Given the description of an element on the screen output the (x, y) to click on. 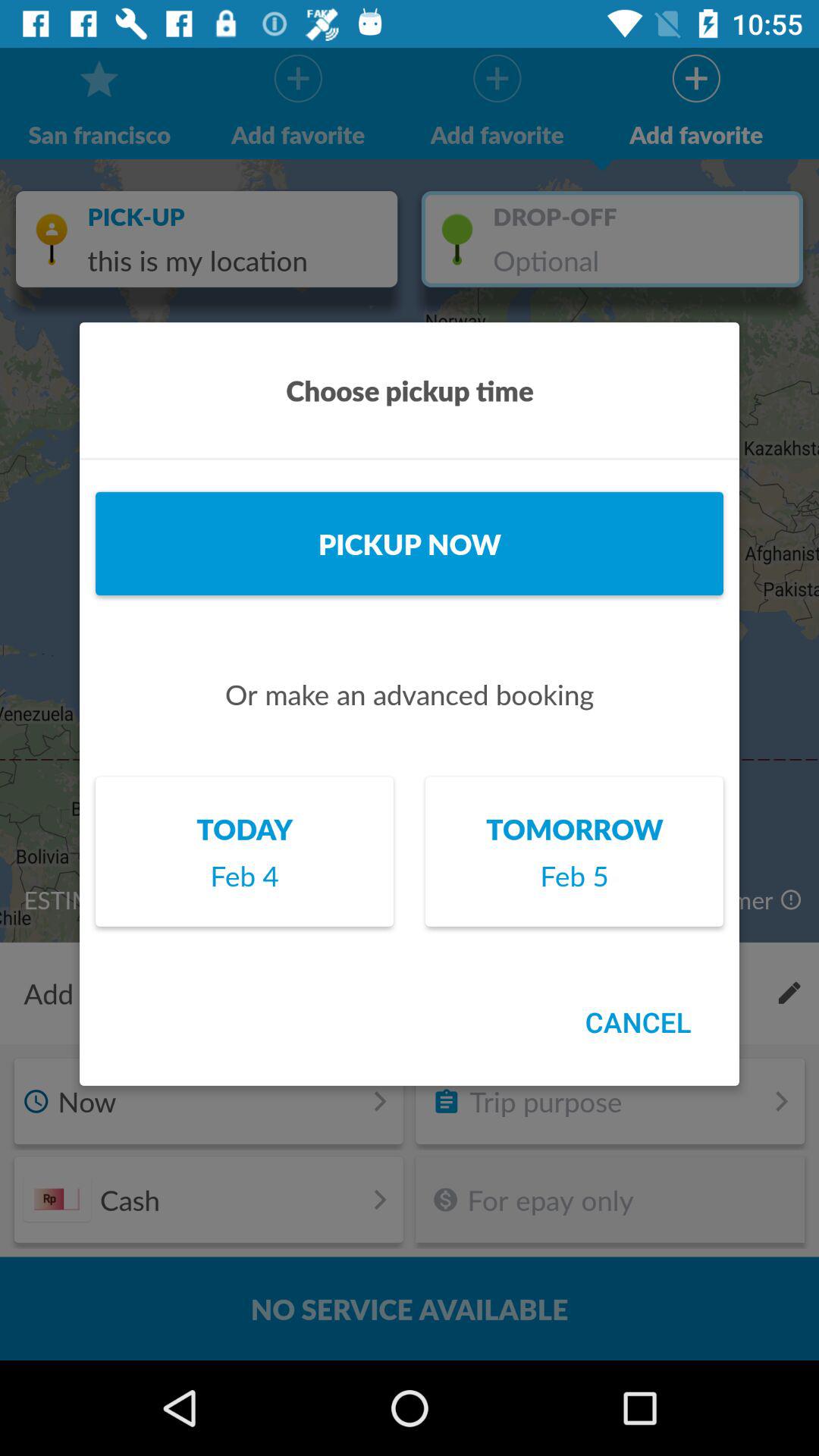
click icon below the feb 5 (638, 1021)
